Given the description of an element on the screen output the (x, y) to click on. 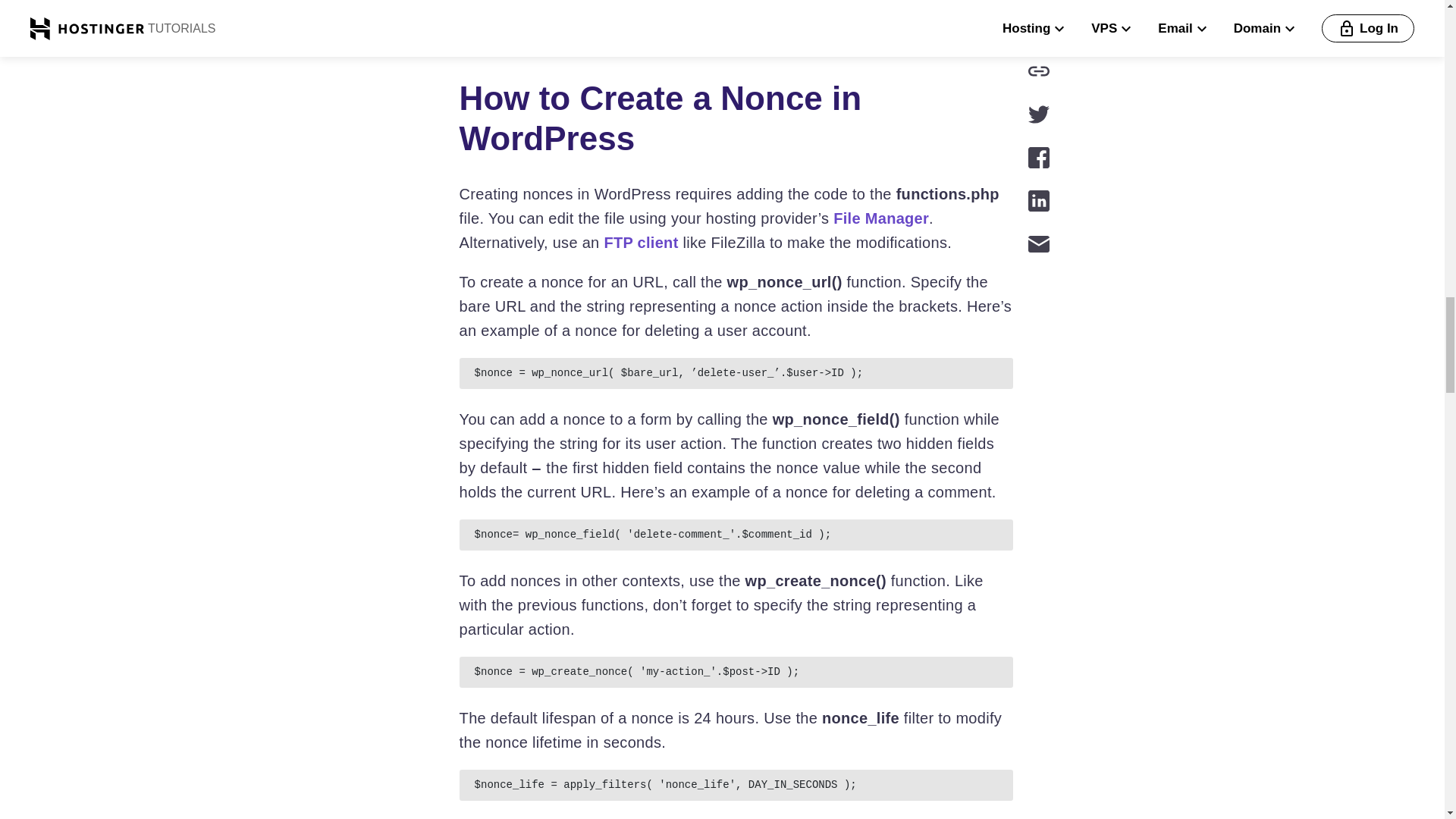
File Manager (880, 217)
FTP client (641, 242)
